Given the description of an element on the screen output the (x, y) to click on. 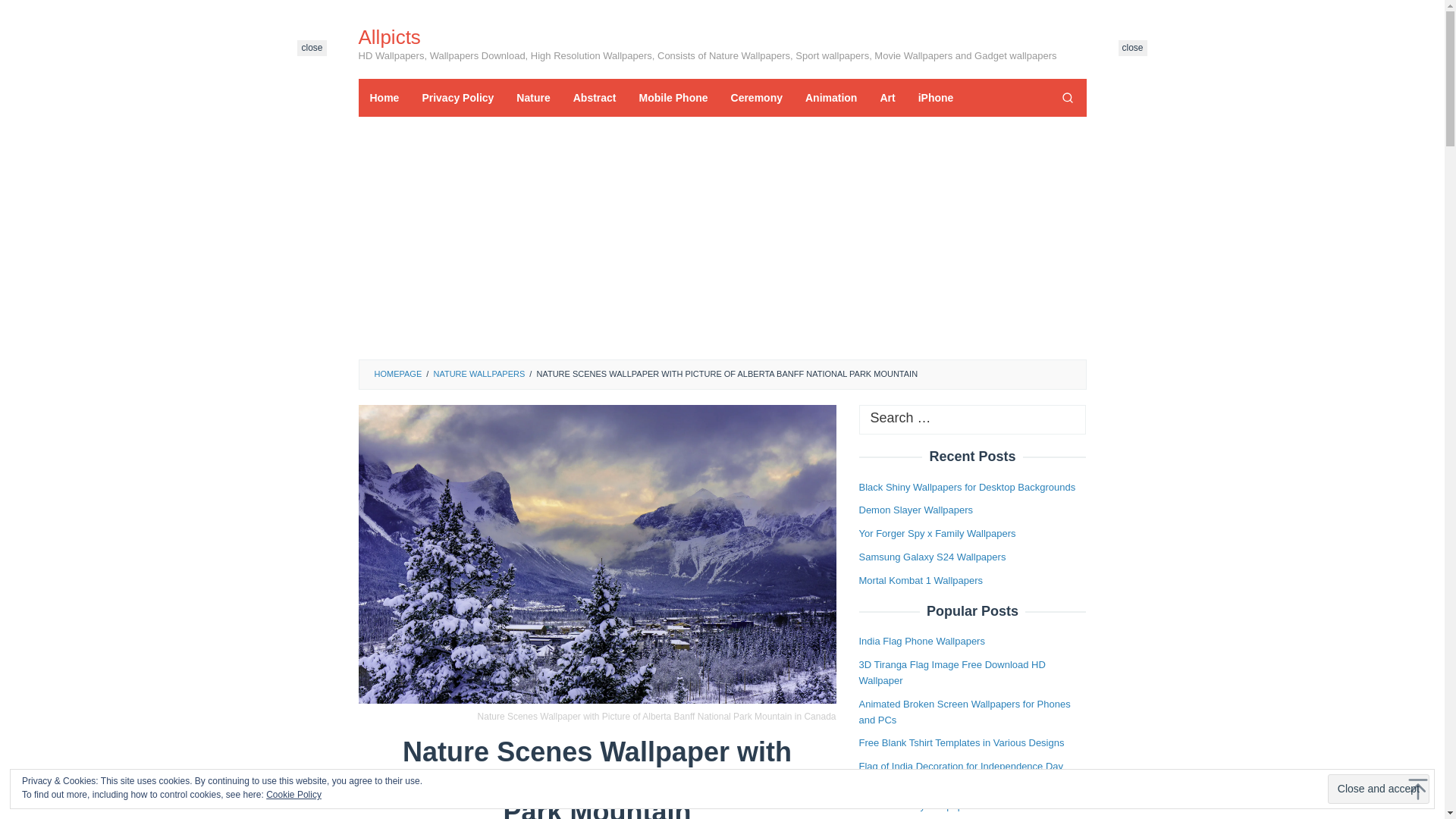
close (311, 48)
NATURE WALLPAPERS (478, 373)
Mobile Phone (673, 97)
close (1132, 48)
Art (886, 97)
Abstract (594, 97)
Privacy Policy (457, 97)
close (311, 48)
Close and accept (1378, 788)
